Given the description of an element on the screen output the (x, y) to click on. 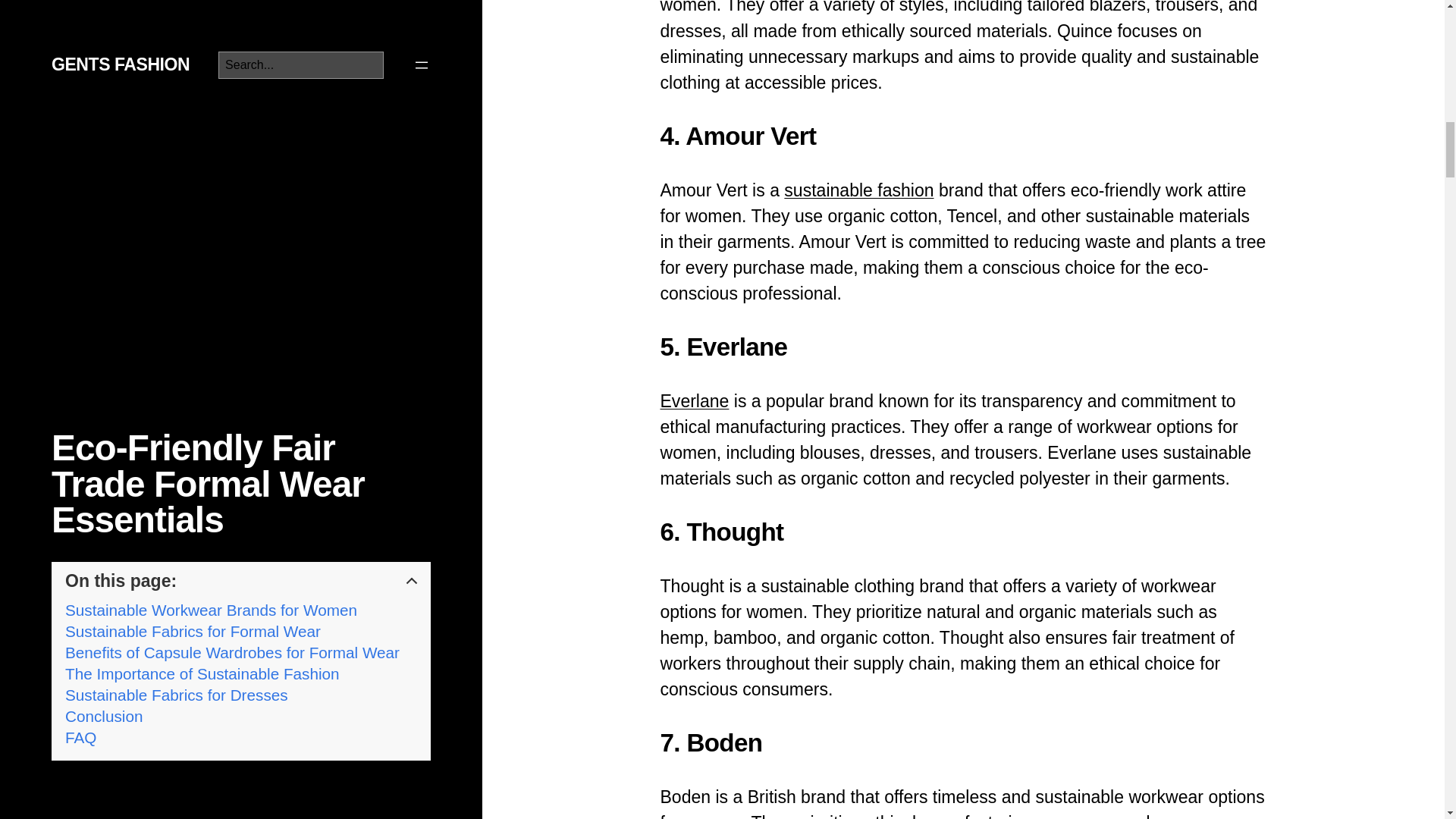
sustainable fashion (858, 189)
sustainable fashion (858, 189)
Everlane (694, 401)
